Given the description of an element on the screen output the (x, y) to click on. 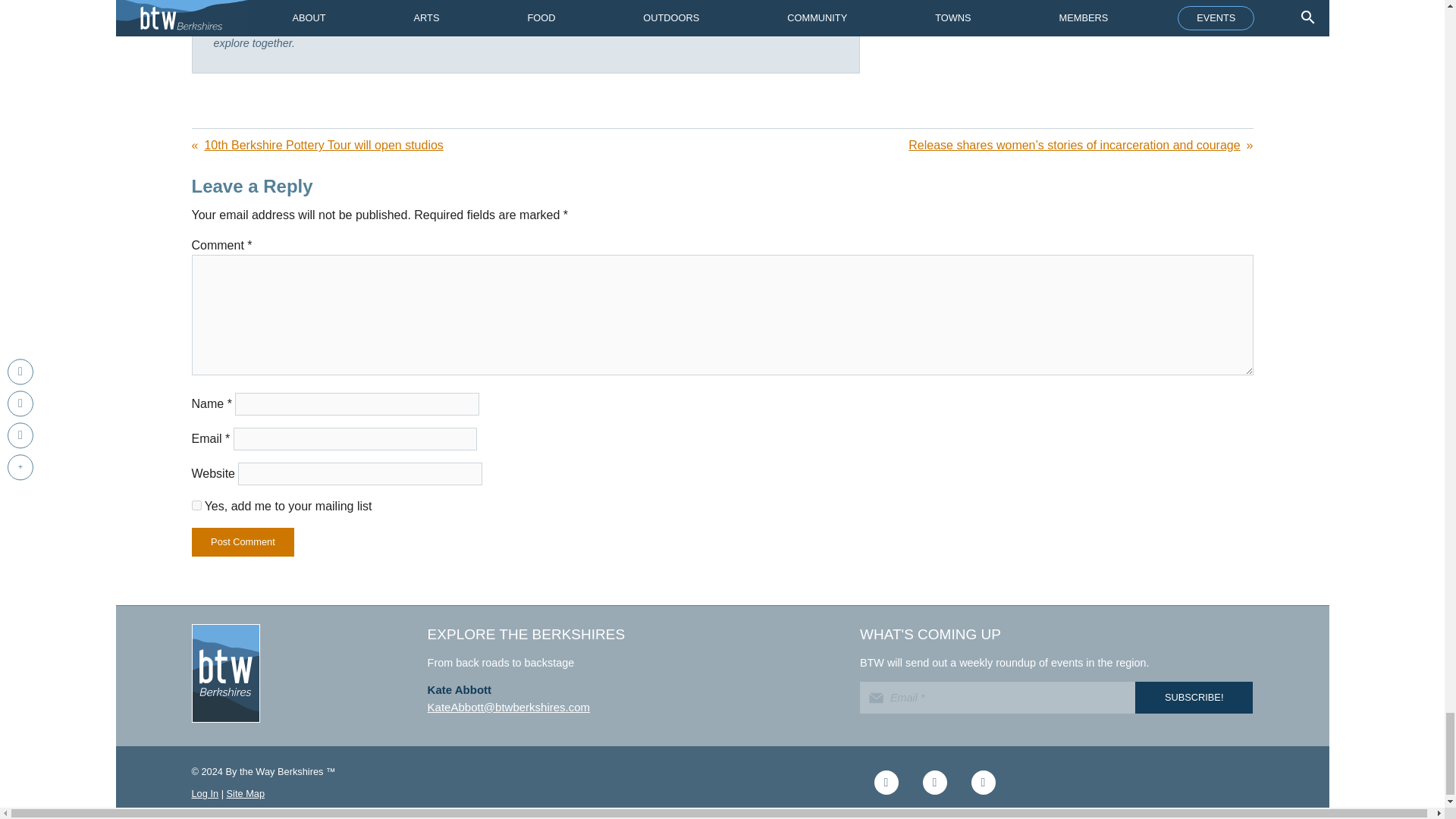
Instagram (933, 782)
Email (997, 697)
Subscribe! (1194, 697)
Facebook (885, 782)
1 (195, 505)
Patreon (982, 782)
Post Comment (242, 541)
